Given the description of an element on the screen output the (x, y) to click on. 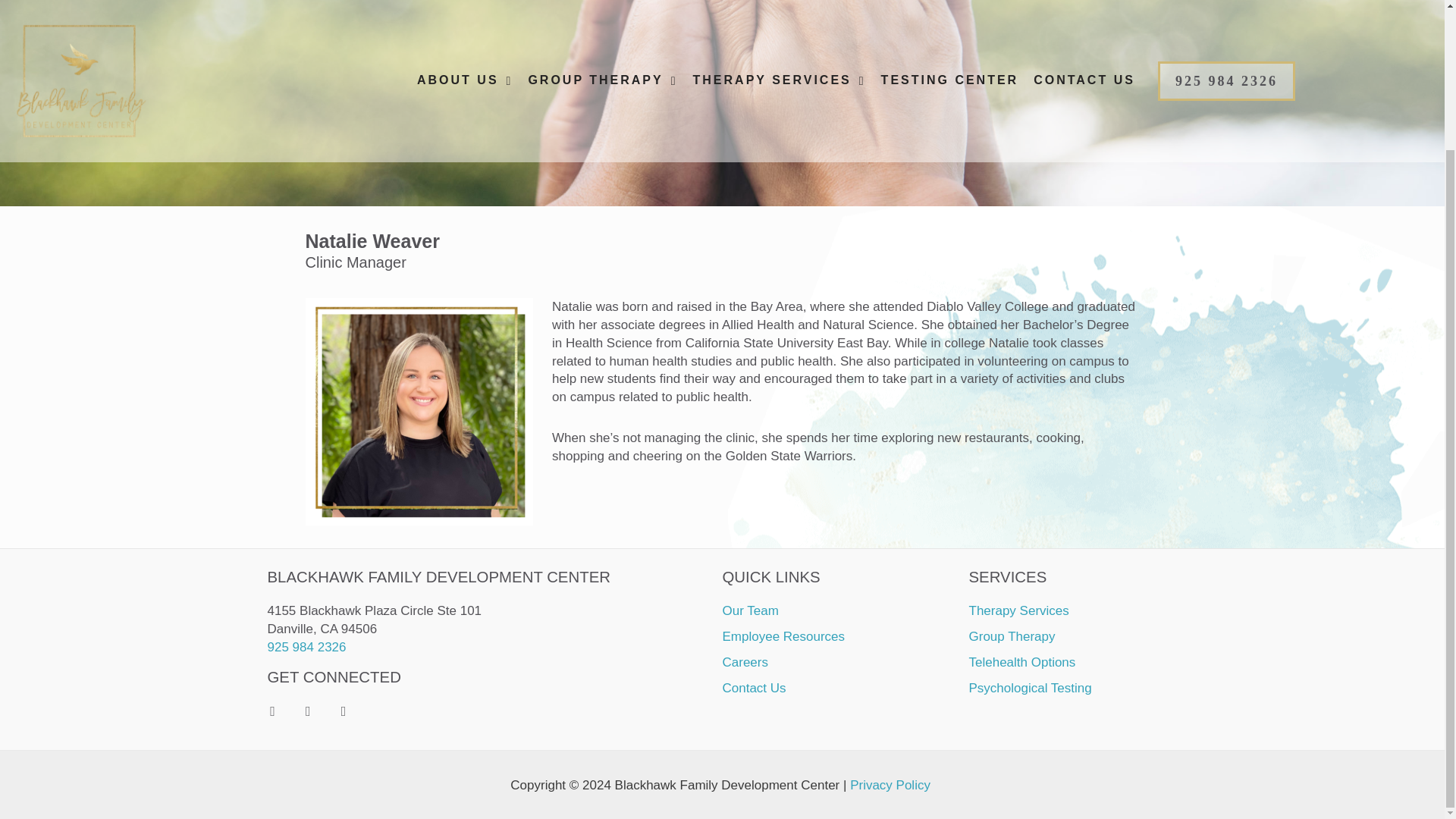
Facebook (272, 710)
Default Label (343, 710)
Instagram (307, 710)
